Given the description of an element on the screen output the (x, y) to click on. 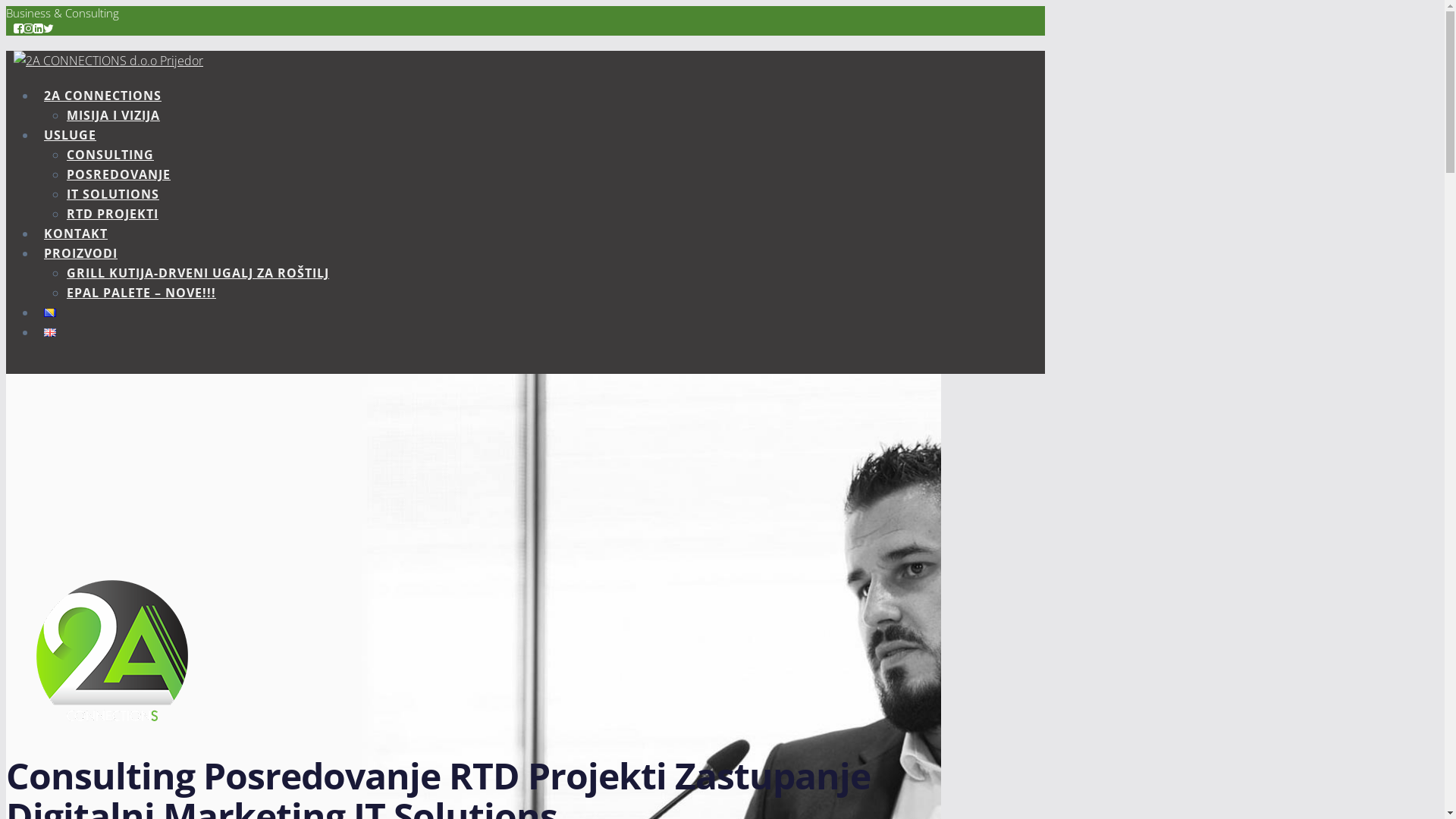
IT SOLUTIONS Element type: text (112, 193)
malilogo_bijela_slova Element type: hover (112, 650)
2A CONNECTIONS Element type: text (102, 95)
MISIJA I VIZIJA Element type: text (113, 114)
POSREDOVANJE Element type: text (118, 174)
CONSULTING Element type: text (109, 154)
KONTAKT Element type: text (75, 233)
RTD PROJEKTI Element type: text (112, 213)
PROIZVODI Element type: text (80, 253)
USLUGE Element type: text (69, 134)
